Given the description of an element on the screen output the (x, y) to click on. 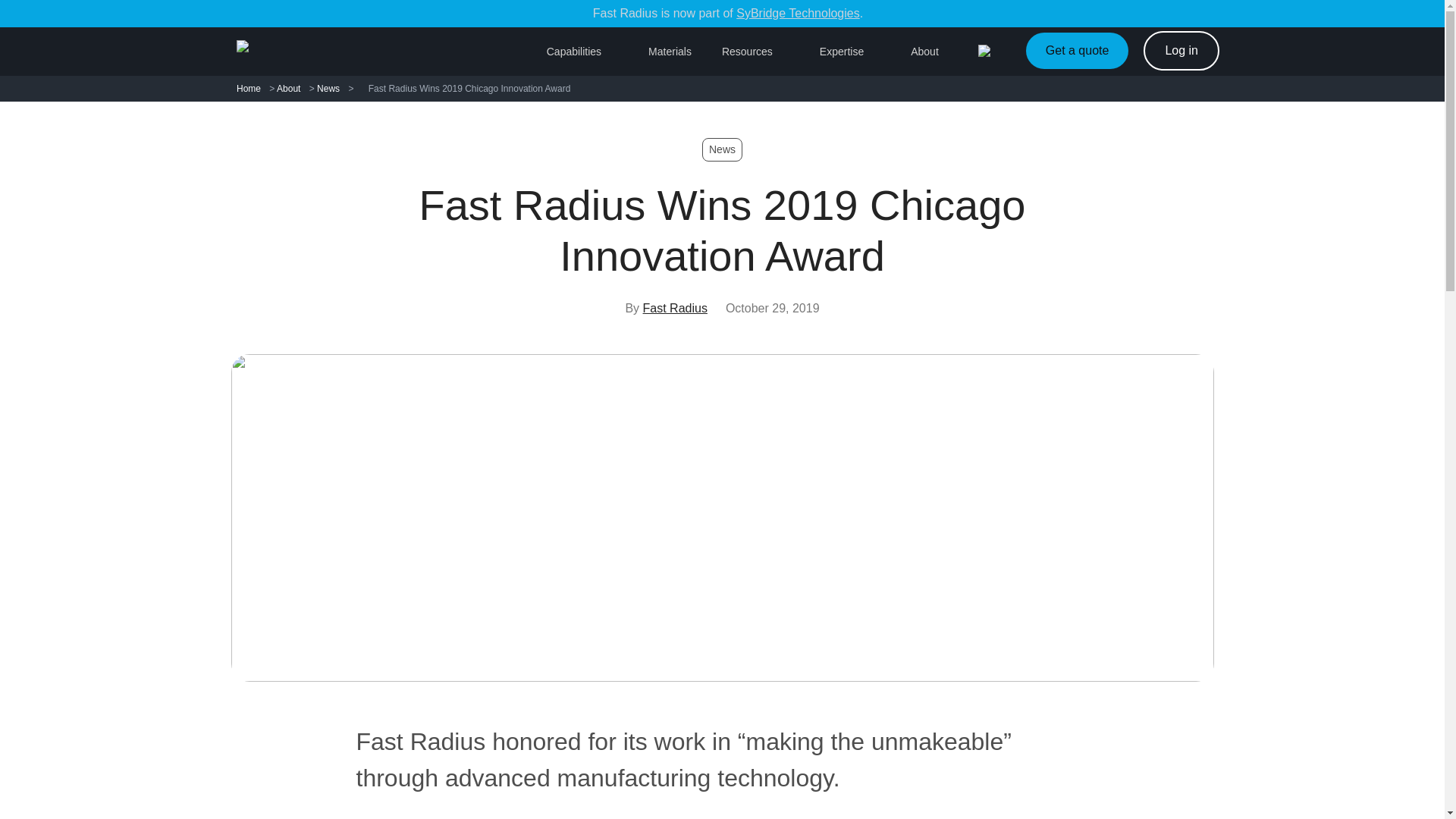
Resources (755, 51)
Expertise (849, 51)
Posts by Fast Radius (675, 308)
Get a quote (1077, 50)
Materials (669, 51)
Log in (1181, 50)
SyBridge Technologies (797, 12)
Capabilities (582, 51)
About (933, 51)
